Given the description of an element on the screen output the (x, y) to click on. 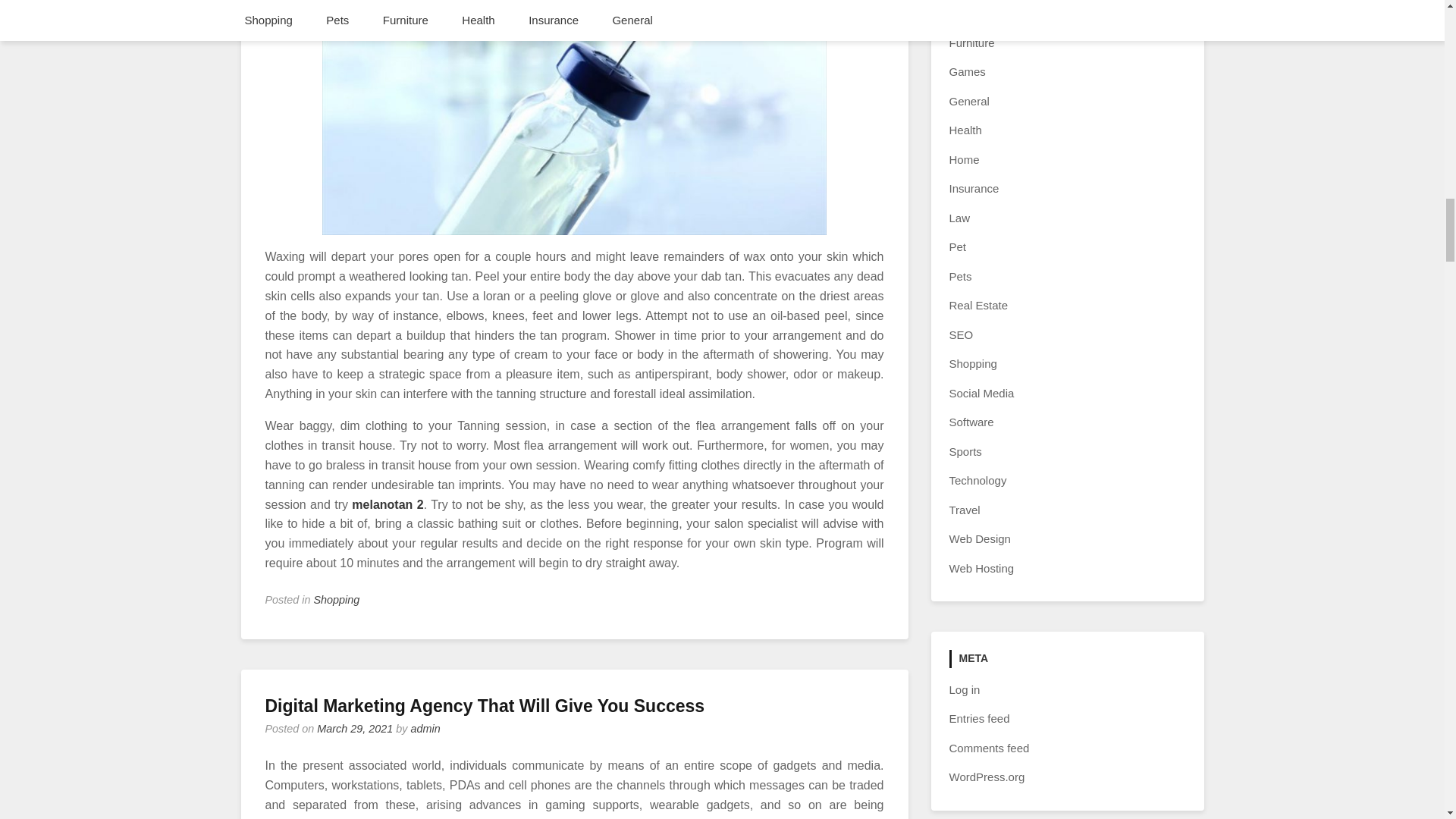
melanotan 2 (387, 504)
Shopping (336, 599)
Digital Marketing Agency That Will Give You Success (484, 705)
admin (425, 728)
March 29, 2021 (355, 728)
